Given the description of an element on the screen output the (x, y) to click on. 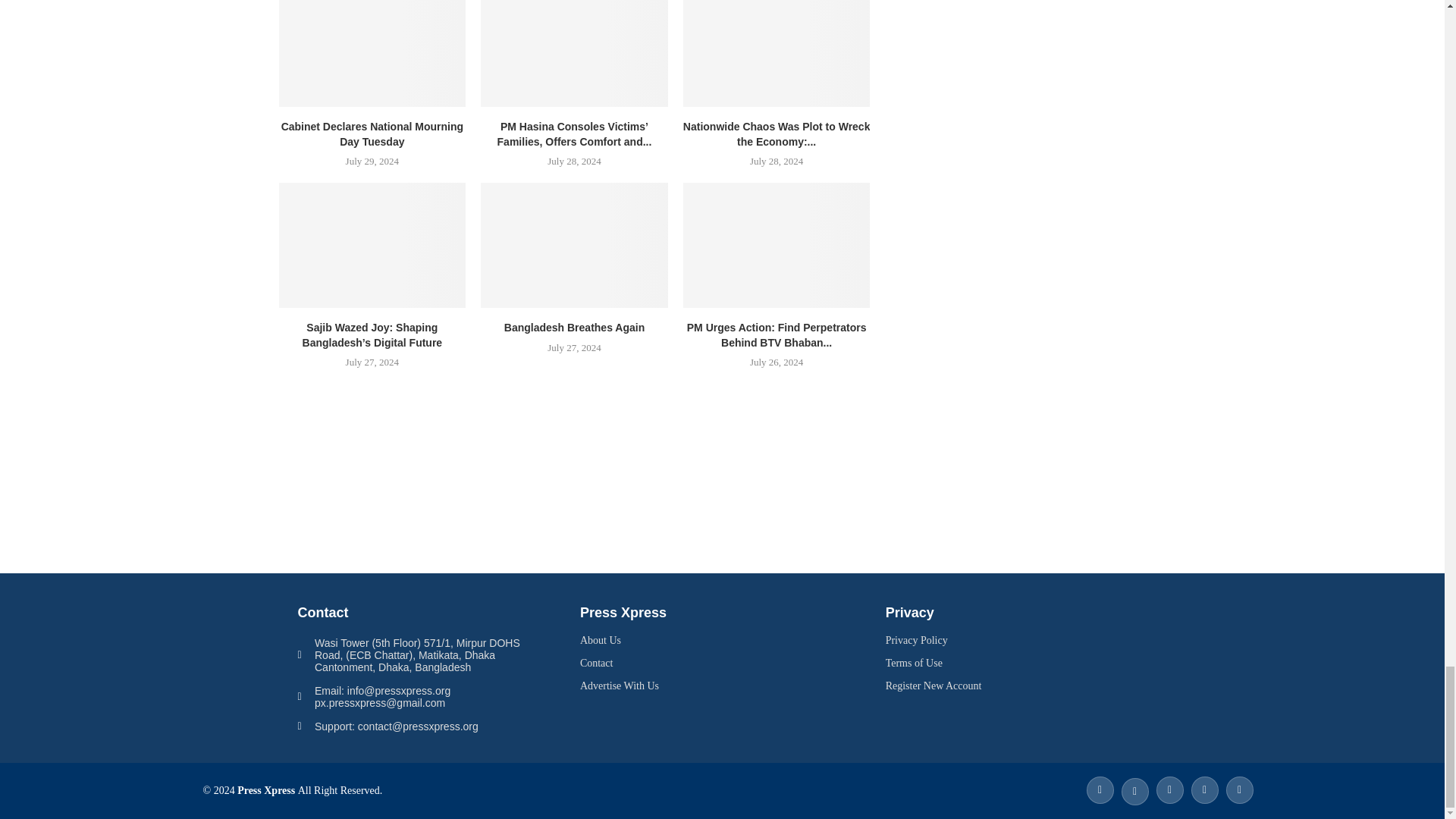
Cabinet Declares National Mourning Day Tuesday (372, 53)
PM Urges Action: Find Perpetrators Behind BTV Bhaban Rampage (776, 244)
Bangladesh Breathes Again (574, 244)
Nationwide Chaos Was Plot to Wreck the Economy: PM Hasina (776, 53)
